Given the description of an element on the screen output the (x, y) to click on. 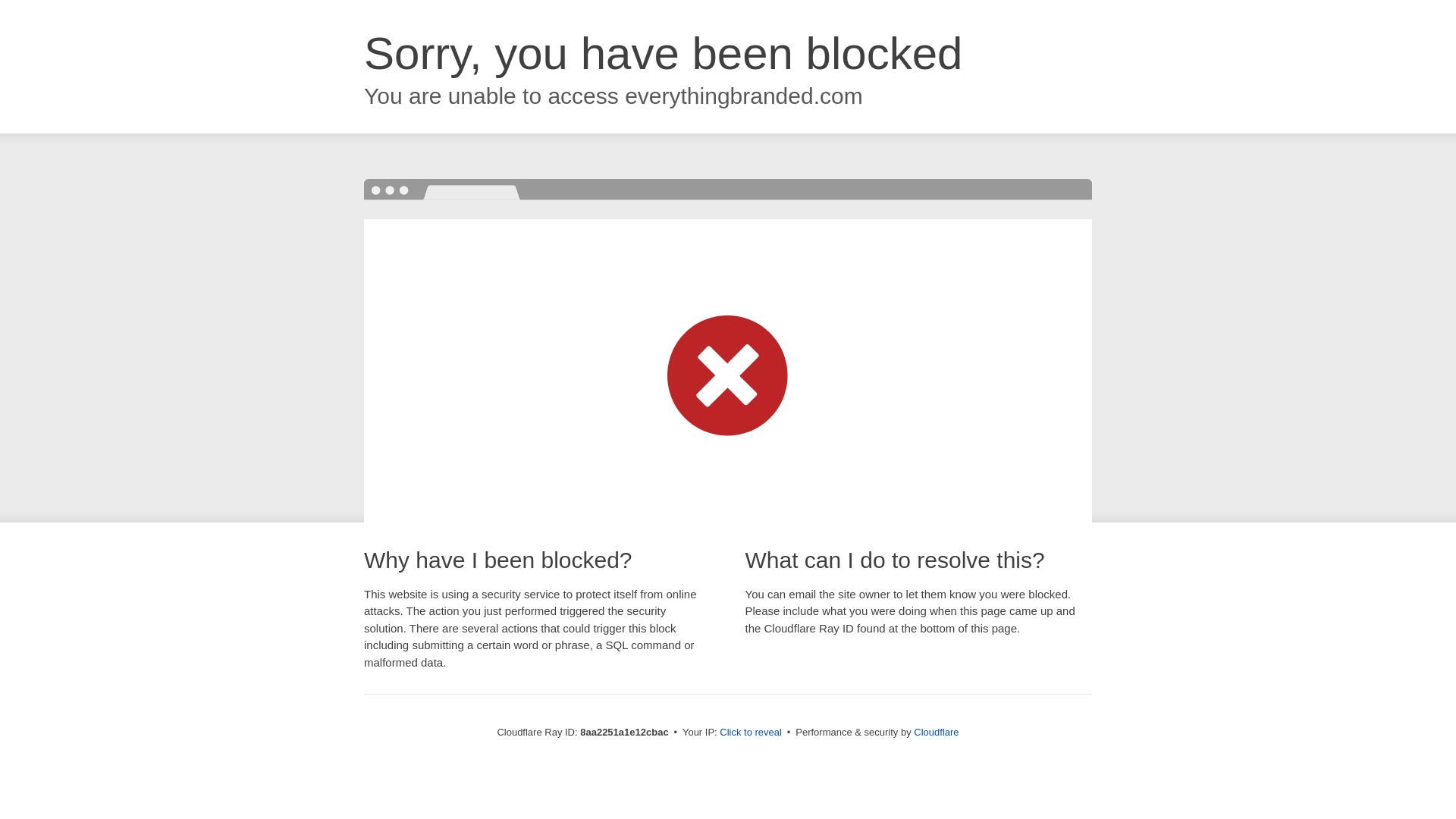
Click to reveal (750, 732)
Cloudflare (936, 731)
